Given the description of an element on the screen output the (x, y) to click on. 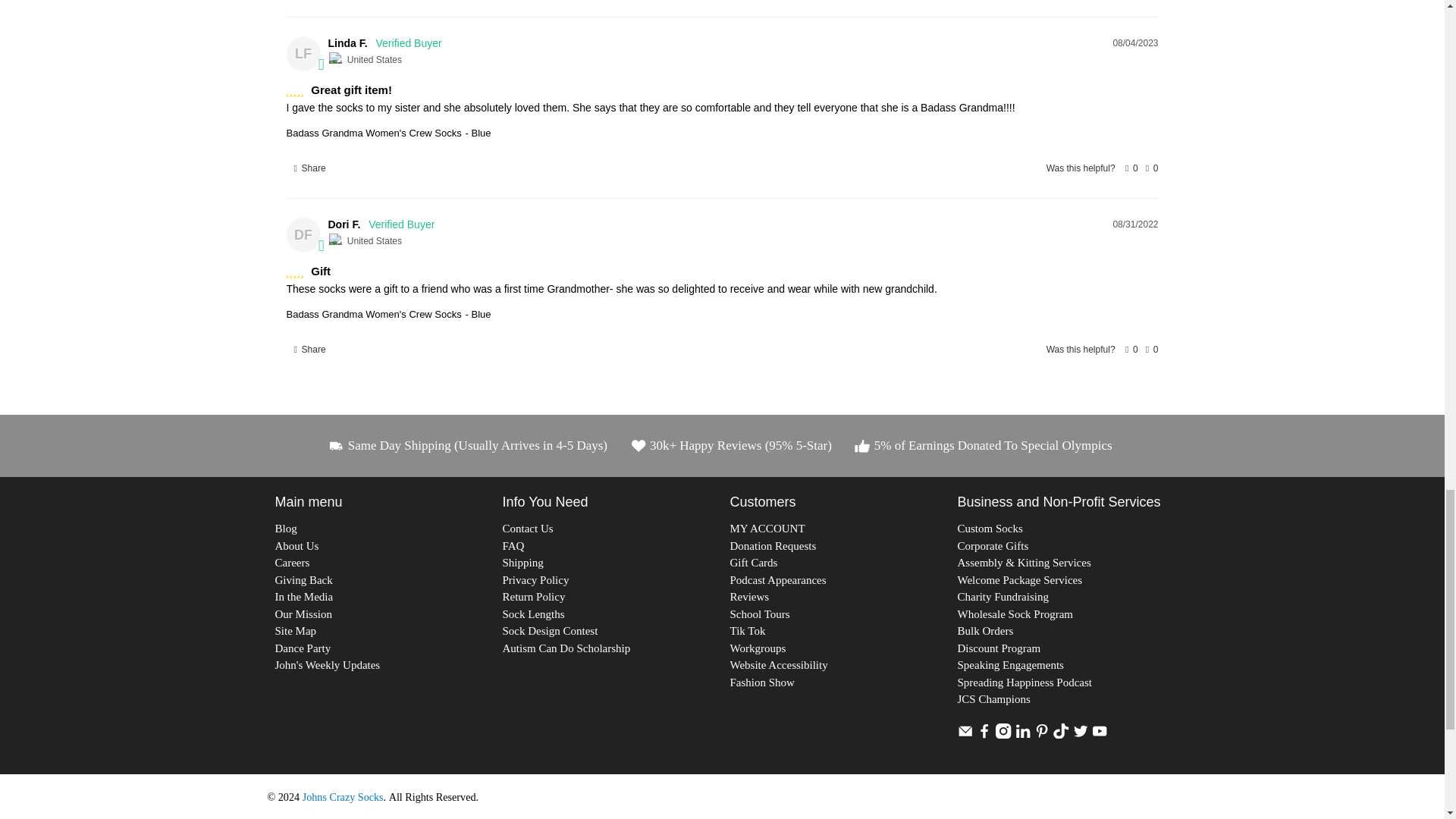
Johns Crazy Socks on LinkedIn (1022, 734)
Johns Crazy Socks on Twitter (1080, 734)
Johns Crazy Socks on YouTube (1099, 734)
Johns Crazy Socks on TikTok (1060, 734)
Johns Crazy Socks on Instagram (1002, 734)
Email Johns Crazy Socks (964, 734)
Johns Crazy Socks on Facebook (983, 734)
Johns Crazy Socks on Pinterest (1041, 734)
